Given the description of an element on the screen output the (x, y) to click on. 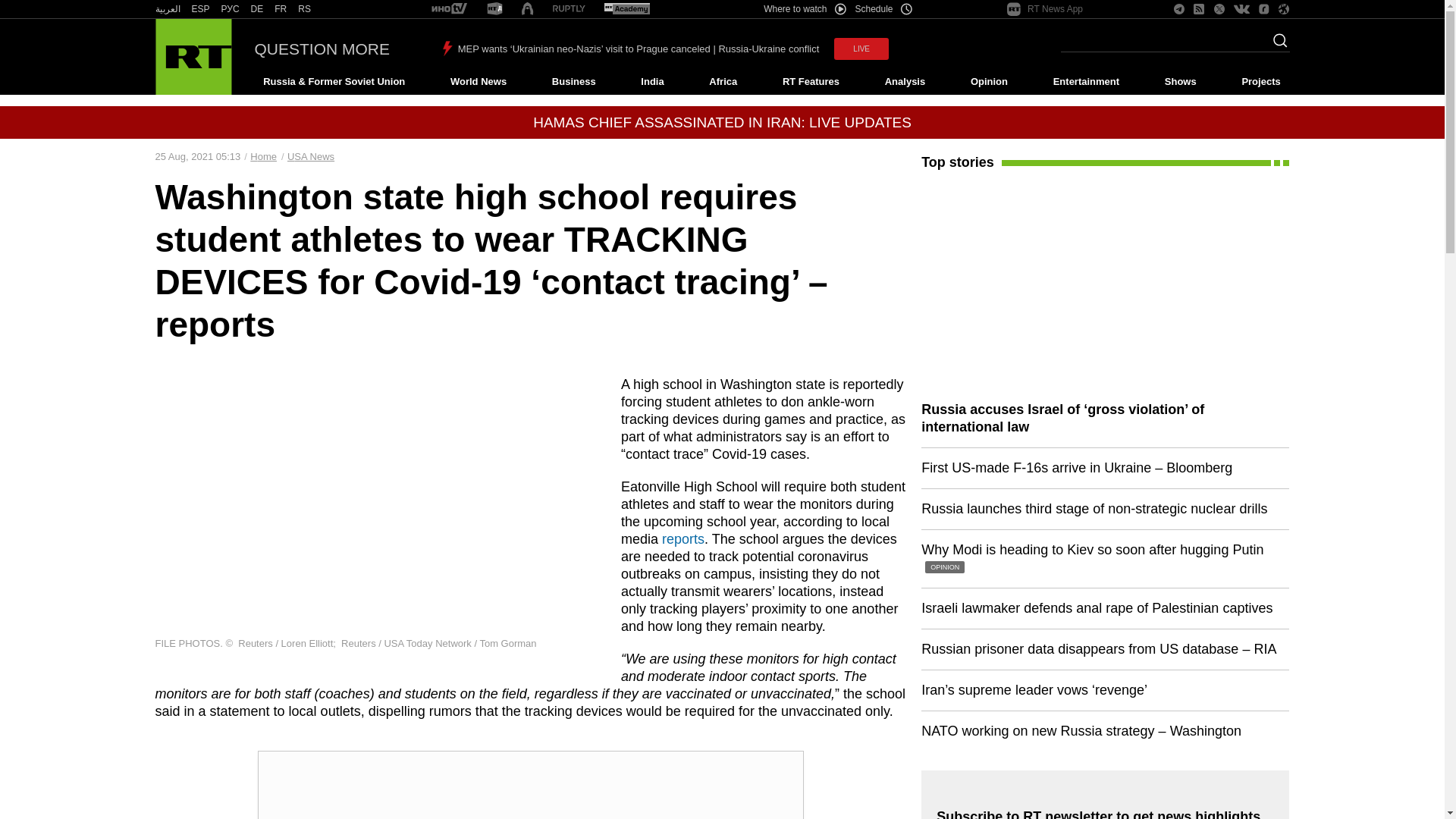
RT  (494, 9)
RT  (199, 9)
Analysis (905, 81)
DE (256, 9)
RT Features (810, 81)
World News (478, 81)
RS (304, 9)
RT  (230, 9)
Africa (722, 81)
RT News App (1045, 9)
RT  (280, 9)
Schedule (884, 9)
LIVE (861, 48)
RT  (256, 9)
Business (573, 81)
